Given the description of an element on the screen output the (x, y) to click on. 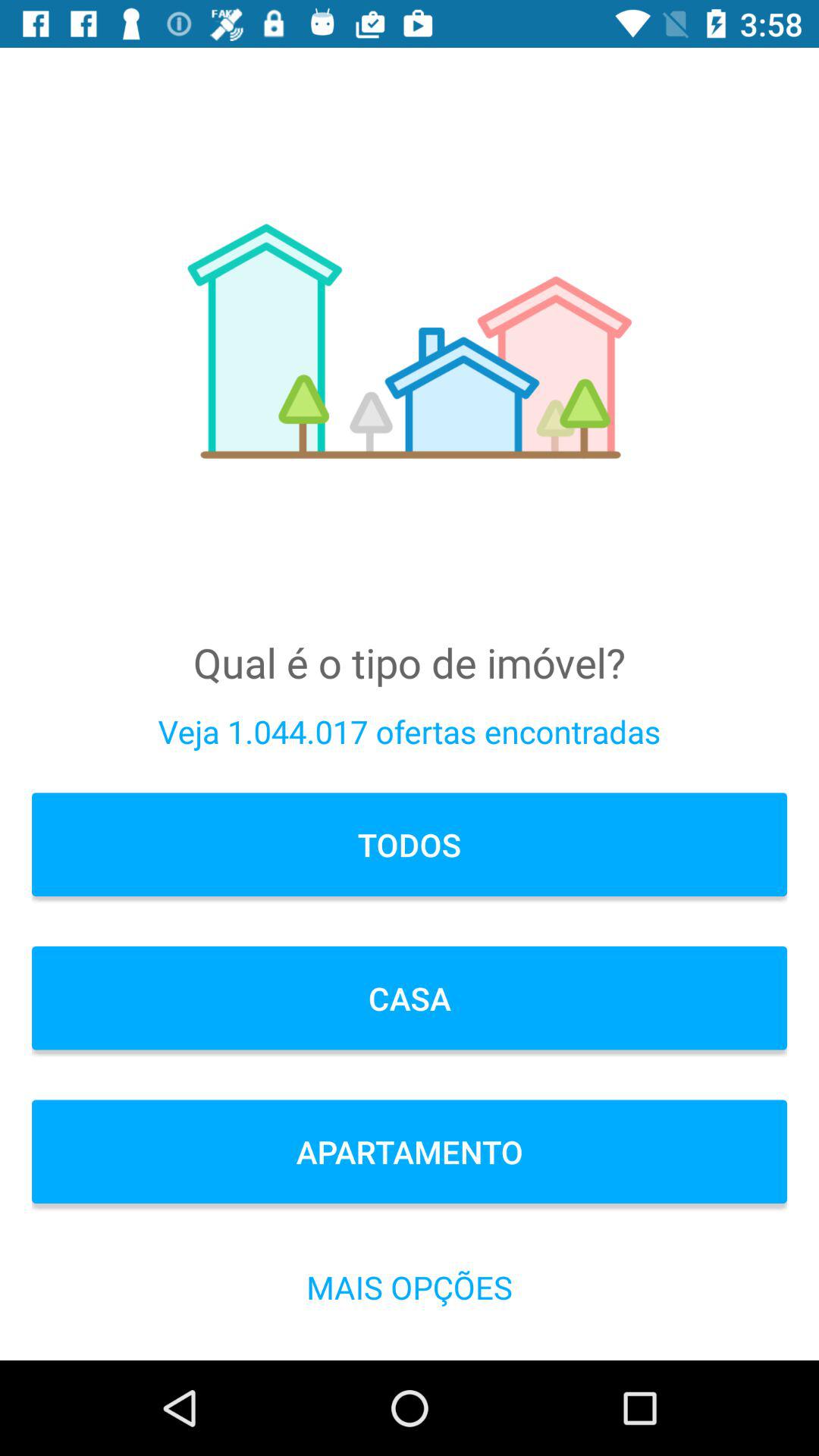
click the item above casa icon (409, 844)
